Given the description of an element on the screen output the (x, y) to click on. 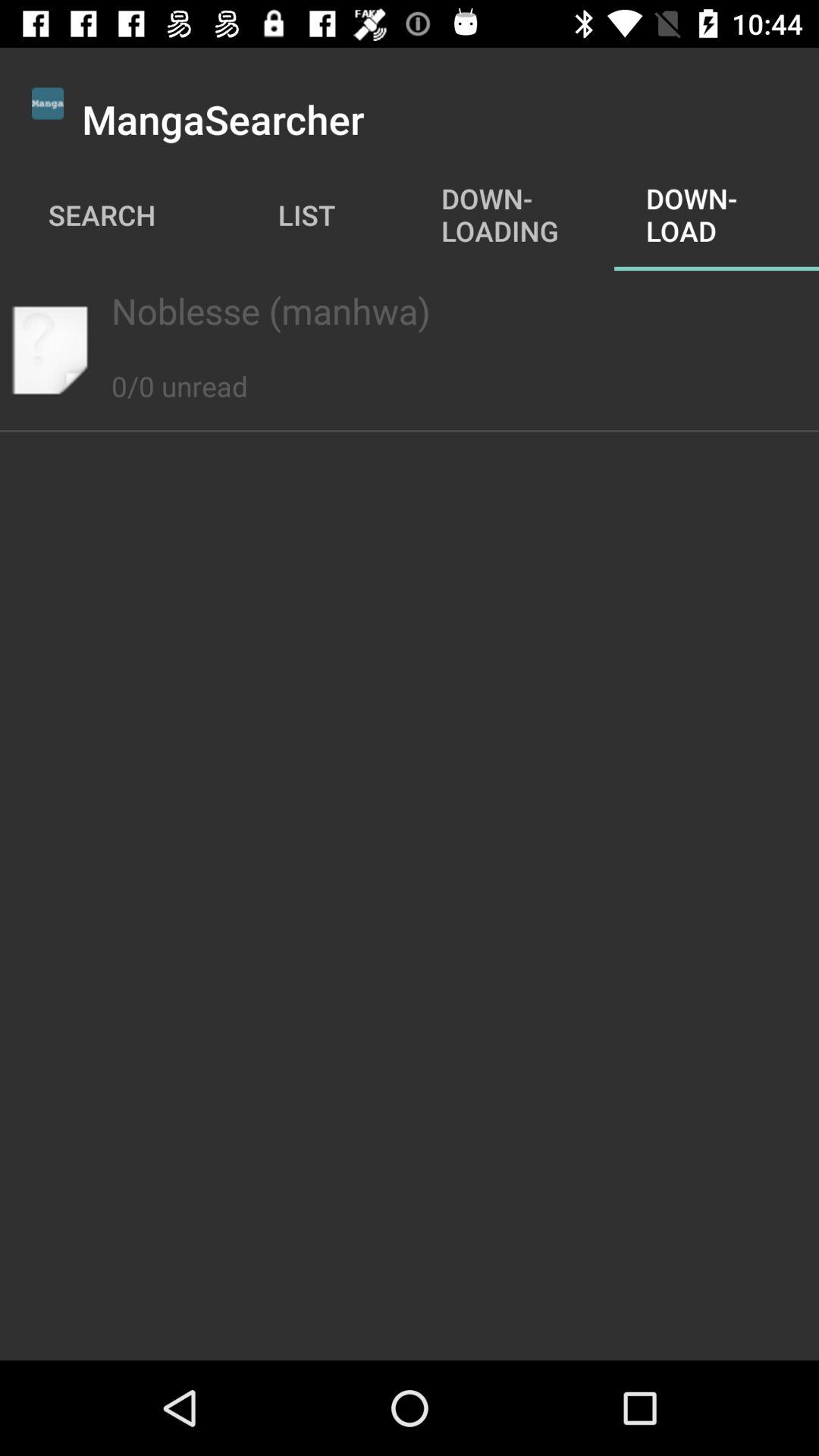
swipe to the noblesse (manhwa) item (409, 310)
